Given the description of an element on the screen output the (x, y) to click on. 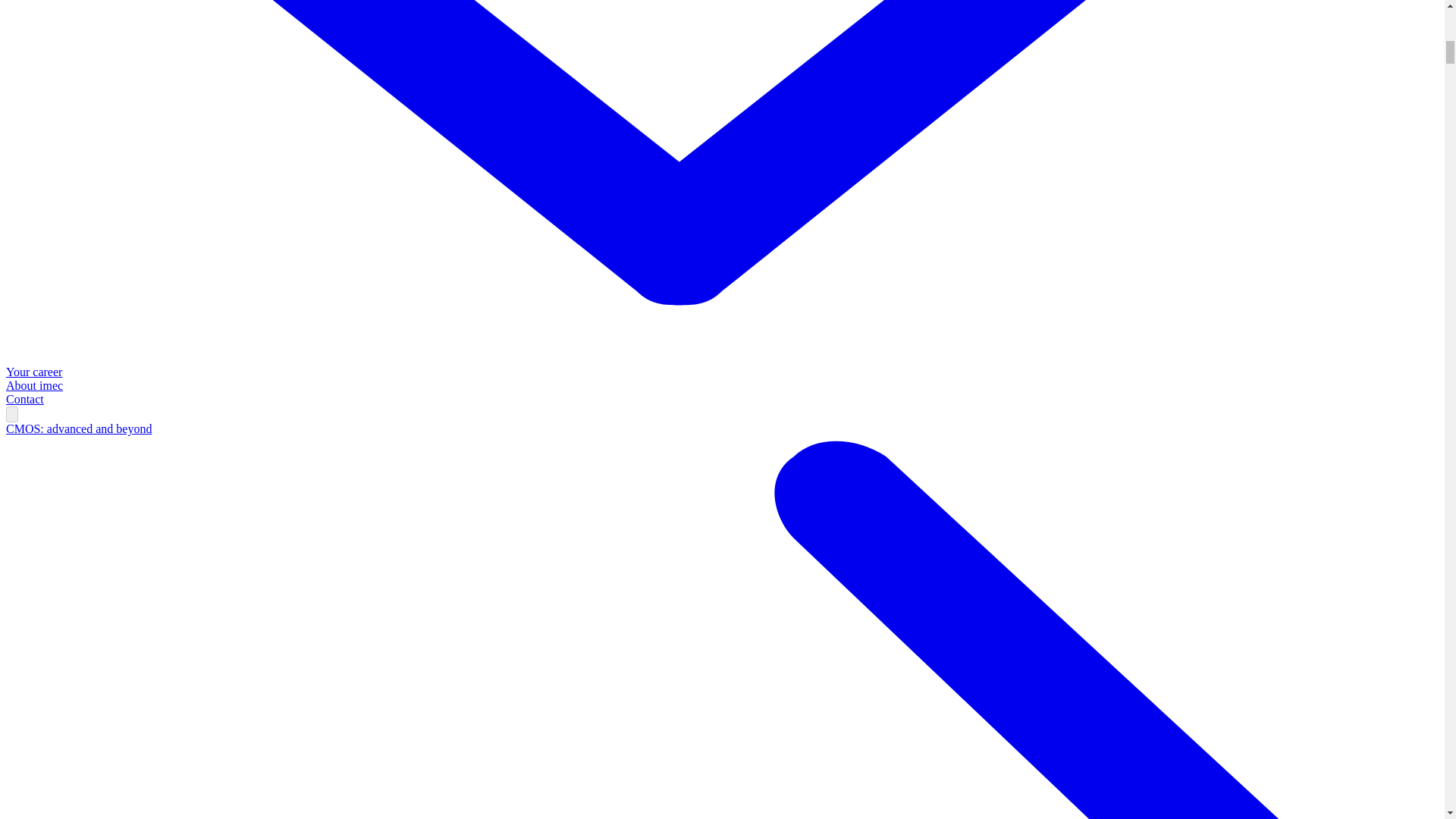
Your career (33, 371)
About imec (33, 385)
Contact (24, 399)
